Given the description of an element on the screen output the (x, y) to click on. 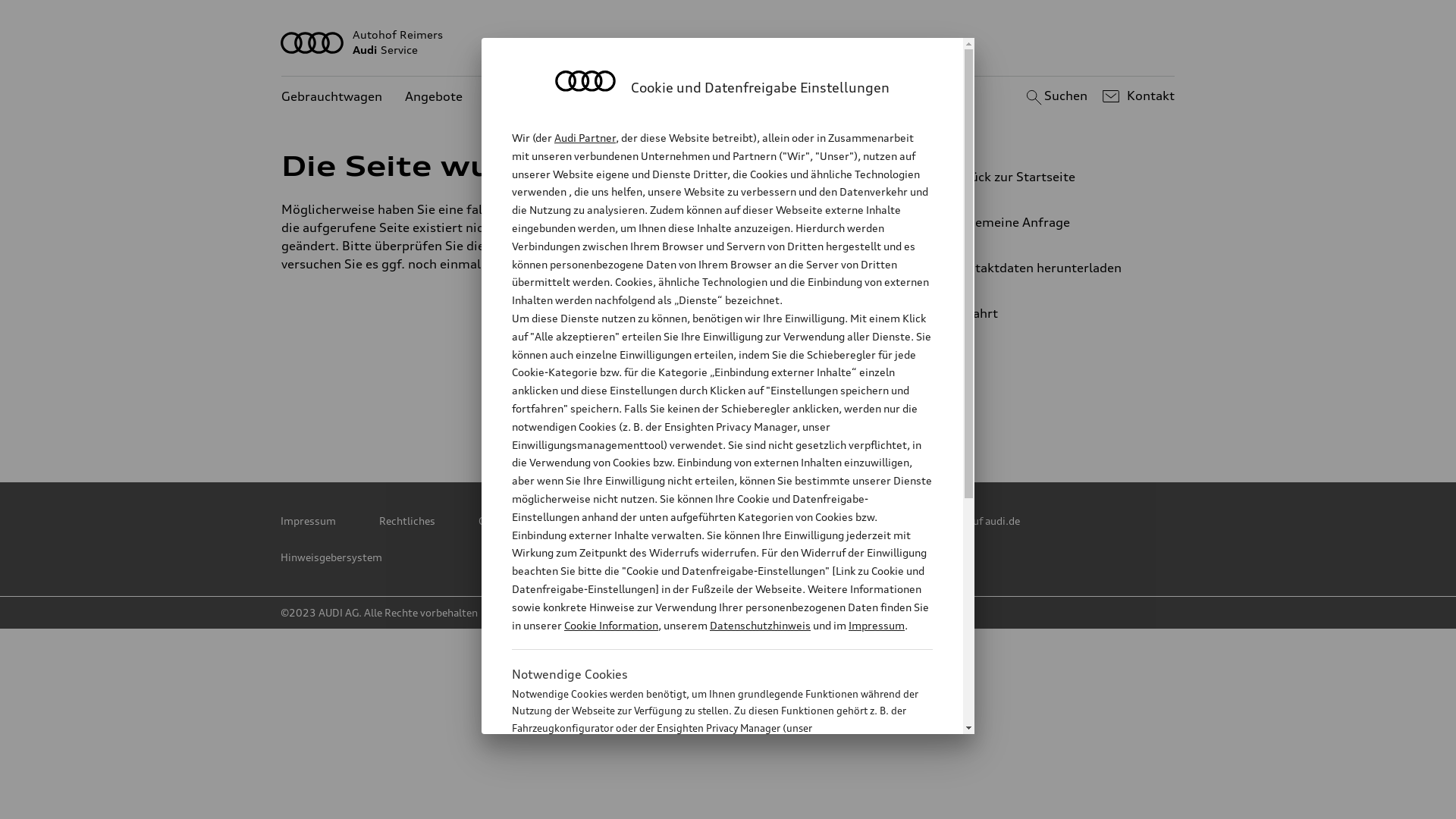
Hinweisgebersystem Element type: text (331, 557)
Audi Partner Element type: text (584, 137)
Facebook Element type: hover (730, 410)
Kontaktdaten herunterladen Element type: text (1043, 267)
Cookie Information Element type: text (611, 624)
Kundenservice Element type: text (528, 96)
Gebrauchtwagen Element type: text (331, 96)
Rechtliches Element type: text (407, 520)
Suchen Element type: text (1054, 96)
Anfahrt Element type: text (1049, 313)
Cookie Policy Element type: text (509, 520)
Autohof Reimers
AudiService Element type: text (727, 42)
Impressum Element type: text (307, 520)
Cookie und Datenfreigabe Einstellungen Element type: text (679, 520)
Angebote Element type: text (433, 96)
Kontakt Element type: text (1135, 96)
Pinterest Element type: hover (663, 410)
Instagram Element type: hover (863, 410)
Allgemeine Anfrage Element type: text (1043, 222)
Datenschutzhinweis Element type: text (759, 624)
Cookie Information Element type: text (705, 802)
Twitter Element type: hover (596, 410)
Konfigurieren auf audi.de Element type: text (958, 520)
YouTube Element type: hover (796, 410)
Audi.de Element type: text (837, 520)
Impressum Element type: text (876, 624)
